Given the description of an element on the screen output the (x, y) to click on. 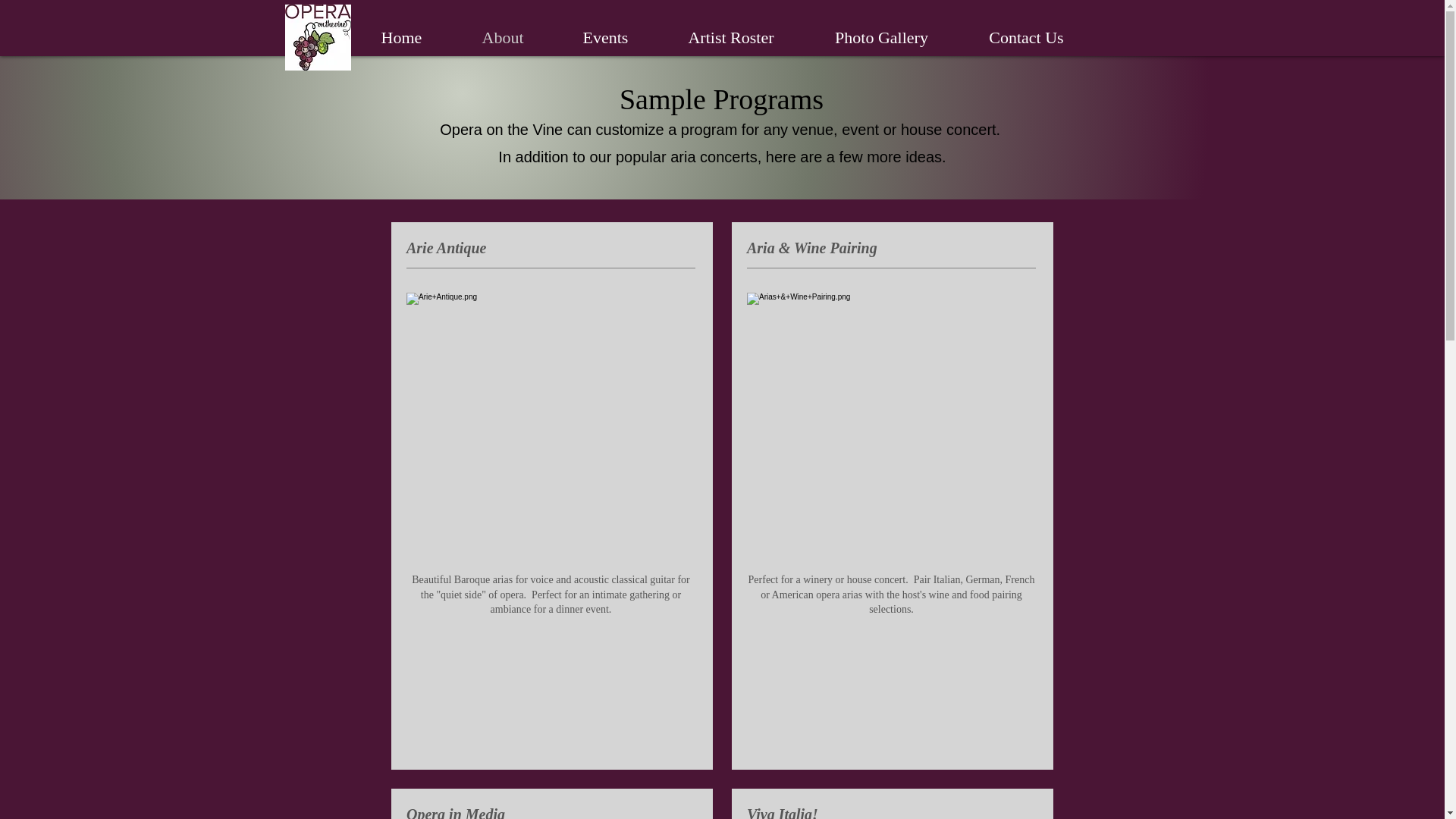
Events (605, 37)
About (502, 37)
Home (400, 37)
Photo Gallery (880, 37)
Contact Us (1025, 37)
Artist Roster (731, 37)
